Given the description of an element on the screen output the (x, y) to click on. 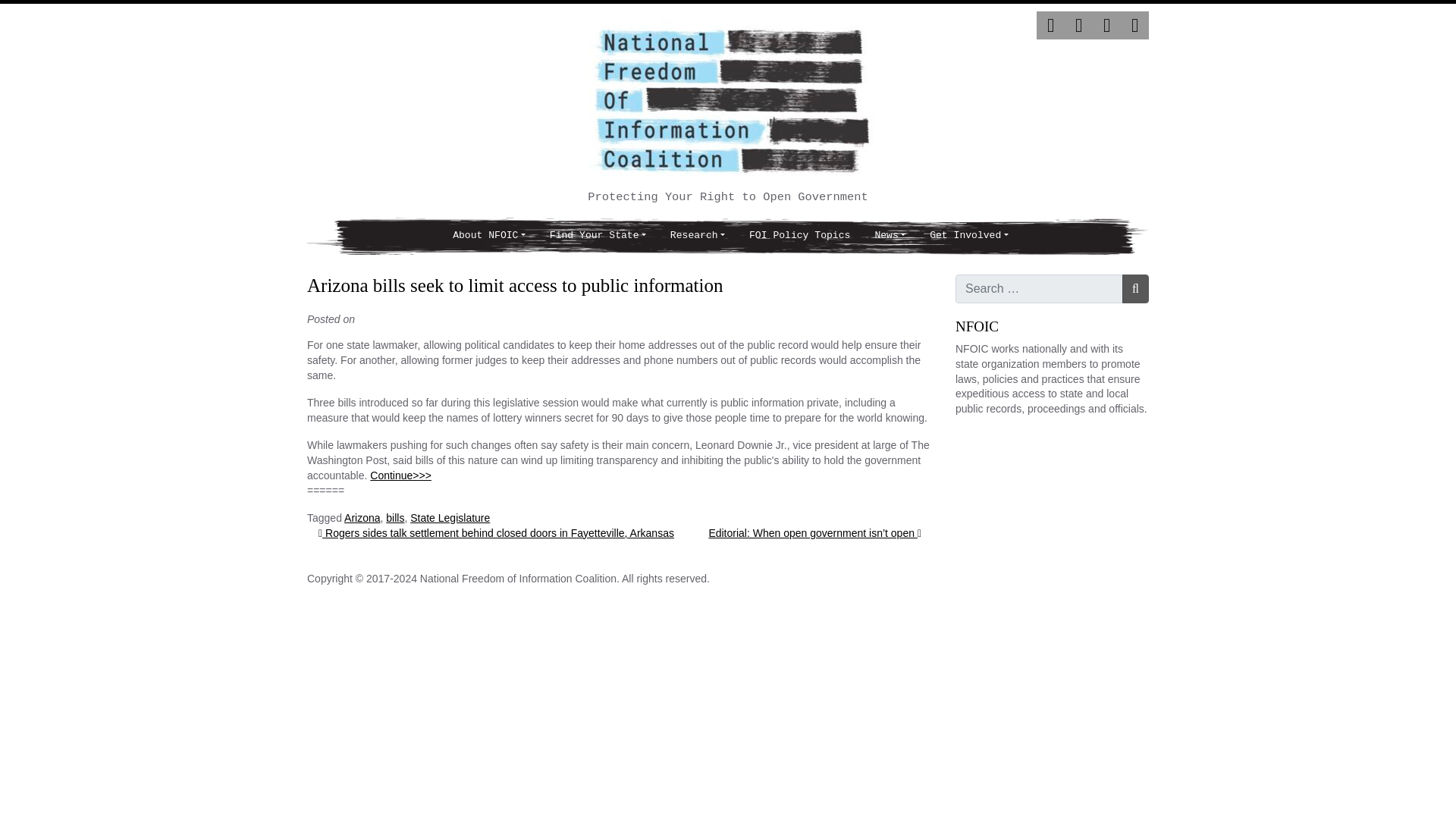
YouTube (1134, 25)
News (889, 235)
Get Involved (968, 235)
Research (697, 235)
Facebook (1078, 25)
Twitter (1050, 25)
FOI Policy Topics (798, 235)
About NFOIC (489, 235)
Arizona (361, 517)
bills (394, 517)
About NFOIC (489, 235)
Instagram (1107, 25)
Find Your State (597, 235)
